Given the description of an element on the screen output the (x, y) to click on. 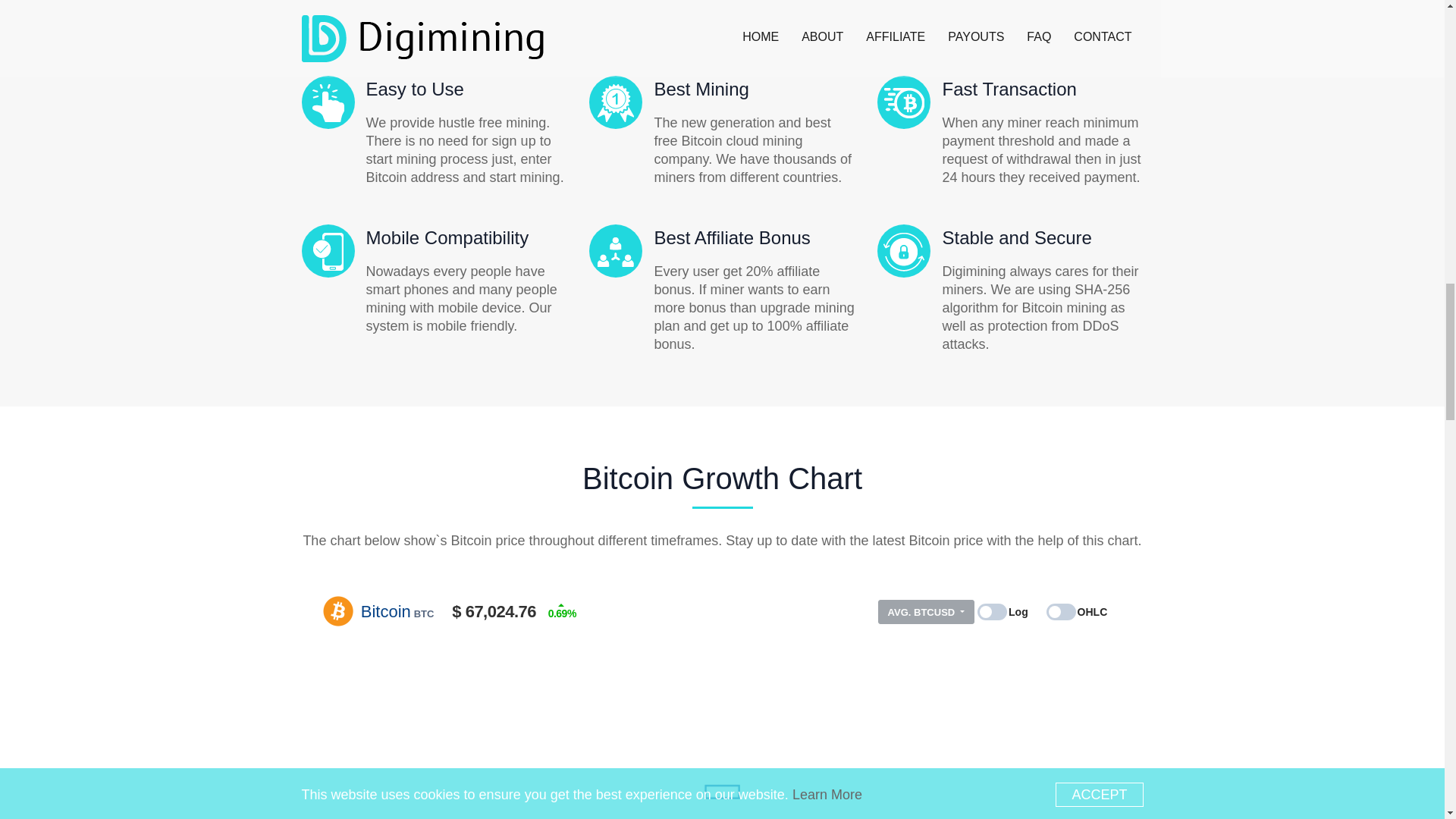
Stable and Secure (1016, 237)
Best Mining (700, 88)
Mobile Compatibility (446, 237)
Easy to Use (414, 88)
Fast Transaction (1008, 88)
Best Affiliate Bonus (731, 237)
